Given the description of an element on the screen output the (x, y) to click on. 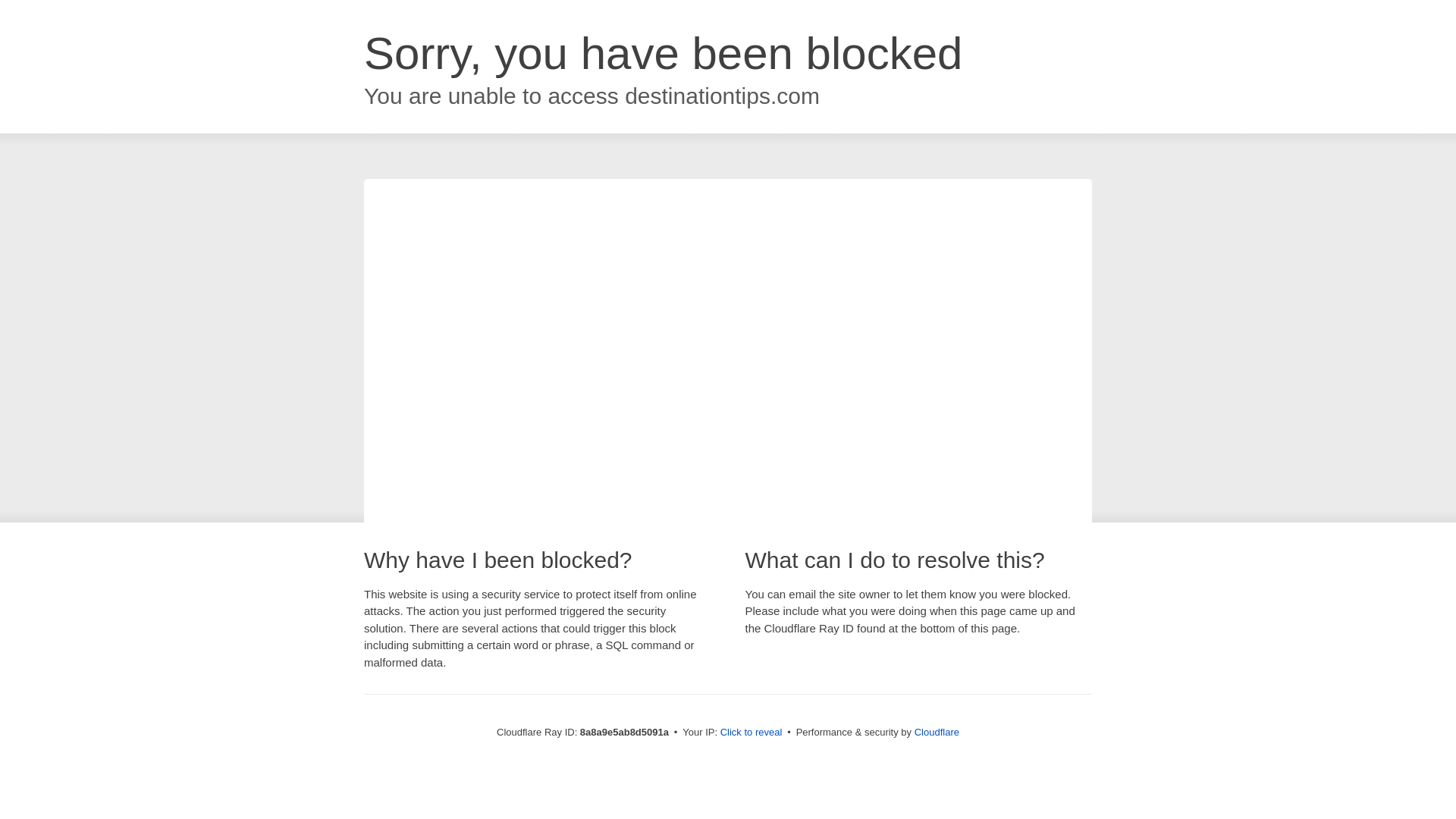
Click to reveal (751, 732)
Cloudflare (936, 731)
